Given the description of an element on the screen output the (x, y) to click on. 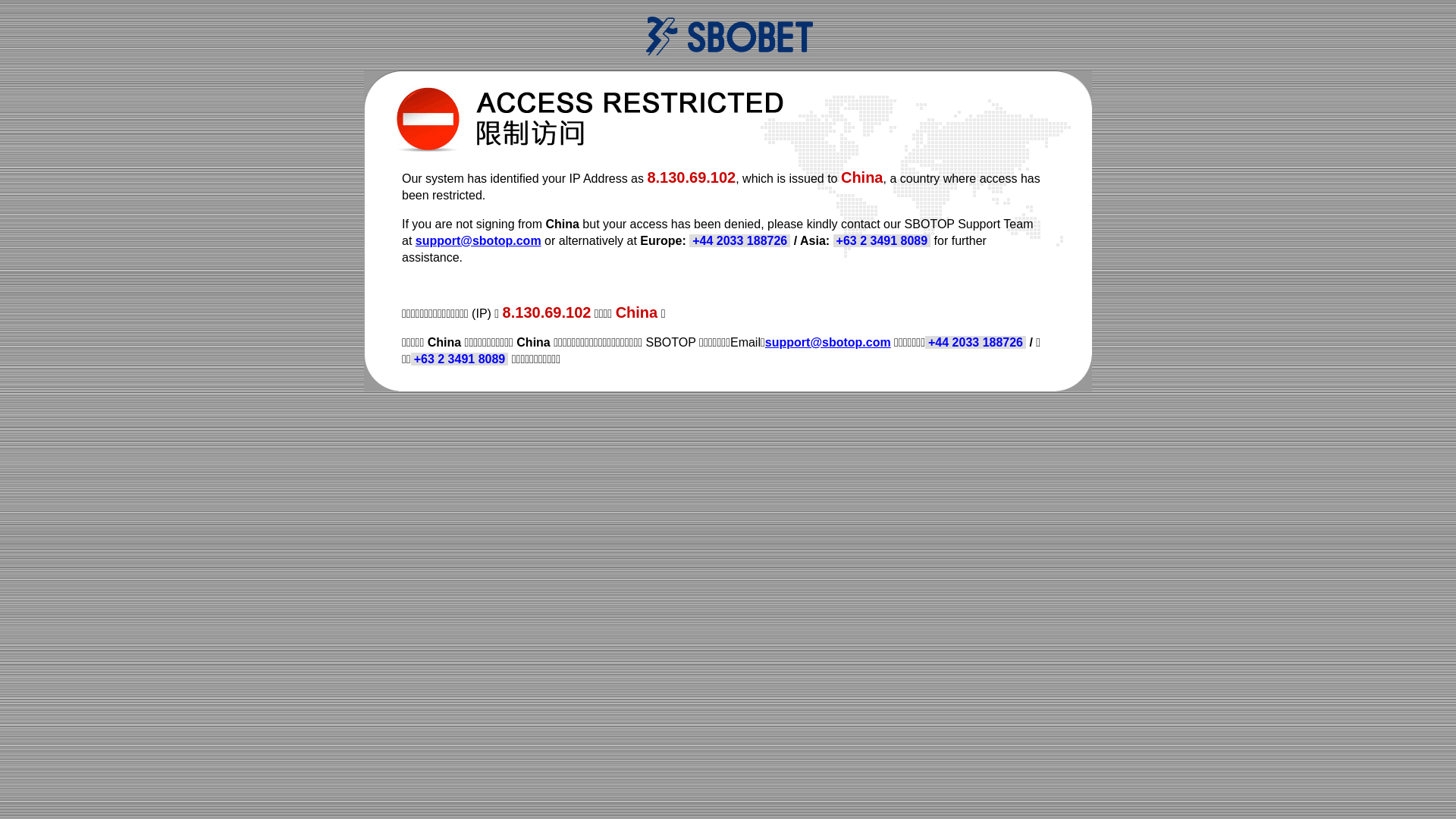
support@sbotop.com Element type: text (478, 240)
support@sbotop.com Element type: text (828, 341)
